Given the description of an element on the screen output the (x, y) to click on. 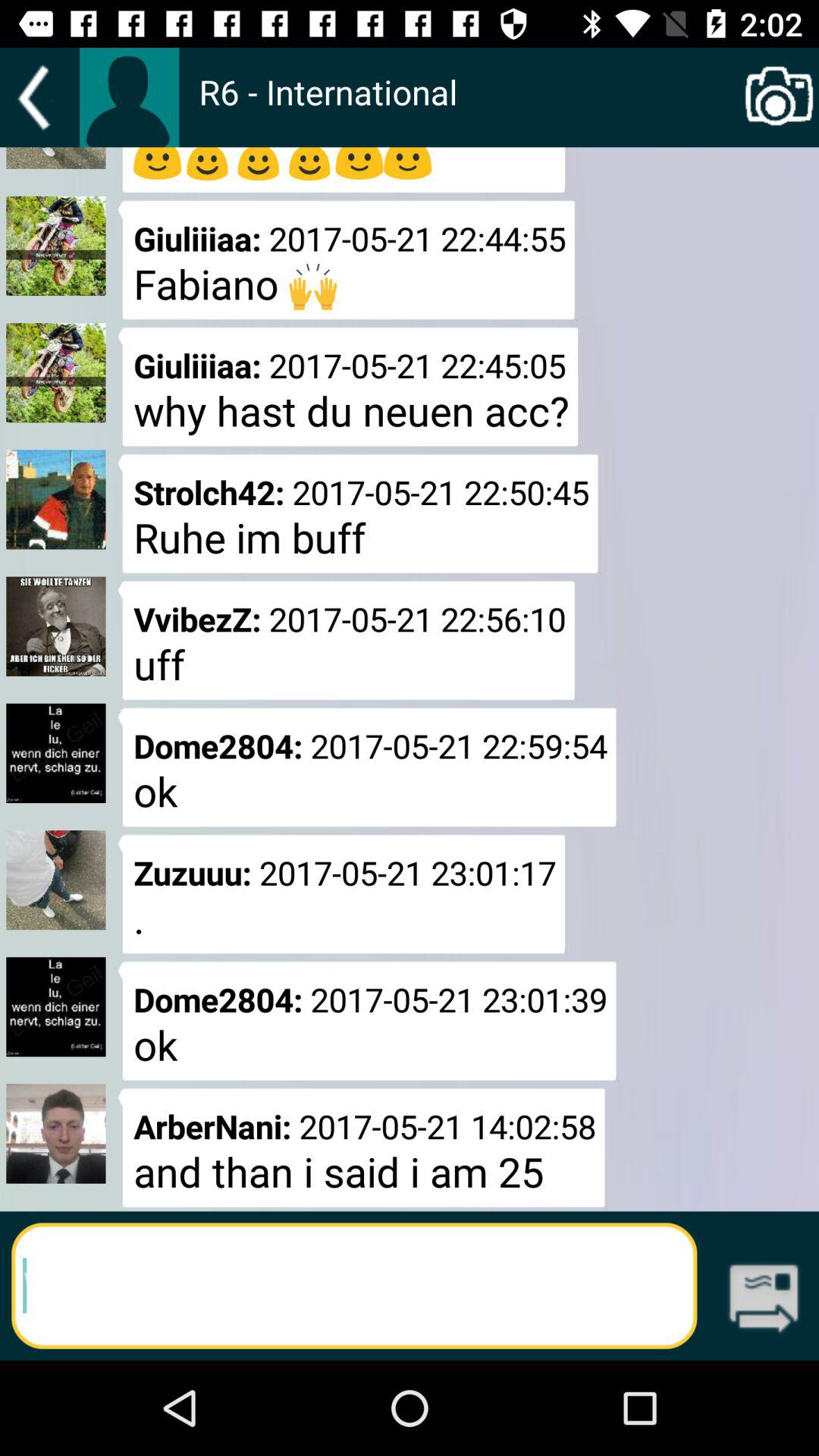
share an image (779, 97)
